Given the description of an element on the screen output the (x, y) to click on. 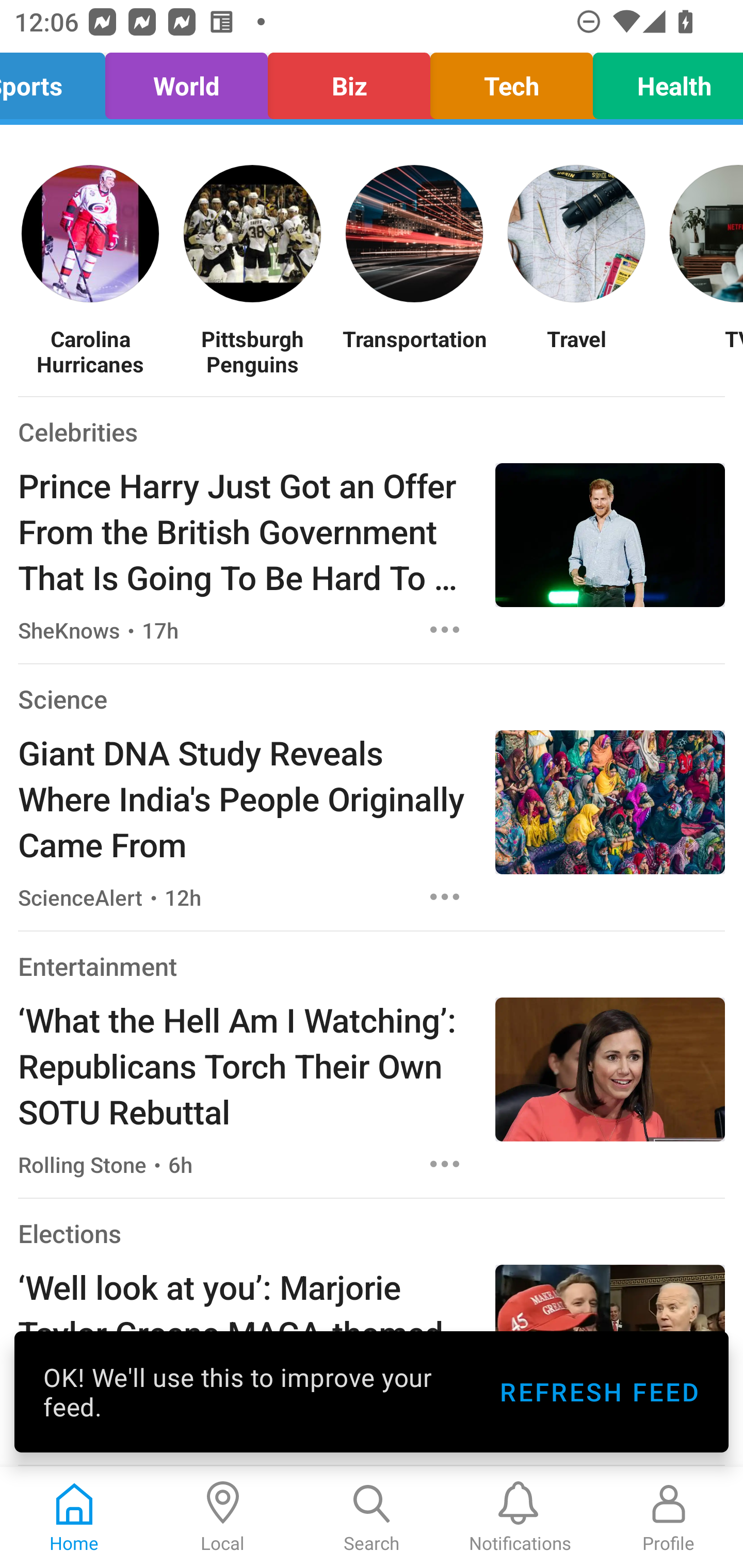
World (186, 81)
Biz (349, 81)
Tech (511, 81)
Health (662, 81)
Carolina Hurricanes (89, 350)
Pittsburgh Penguins (251, 350)
Transportation (413, 350)
Travel (575, 350)
Celebrities (77, 430)
Options (444, 629)
Science (61, 699)
Options (444, 896)
Entertainment (97, 965)
Options (444, 1164)
Elections (69, 1232)
REFRESH FEED (598, 1391)
Local (222, 1517)
Search (371, 1517)
Notifications (519, 1517)
Profile (668, 1517)
